Given the description of an element on the screen output the (x, y) to click on. 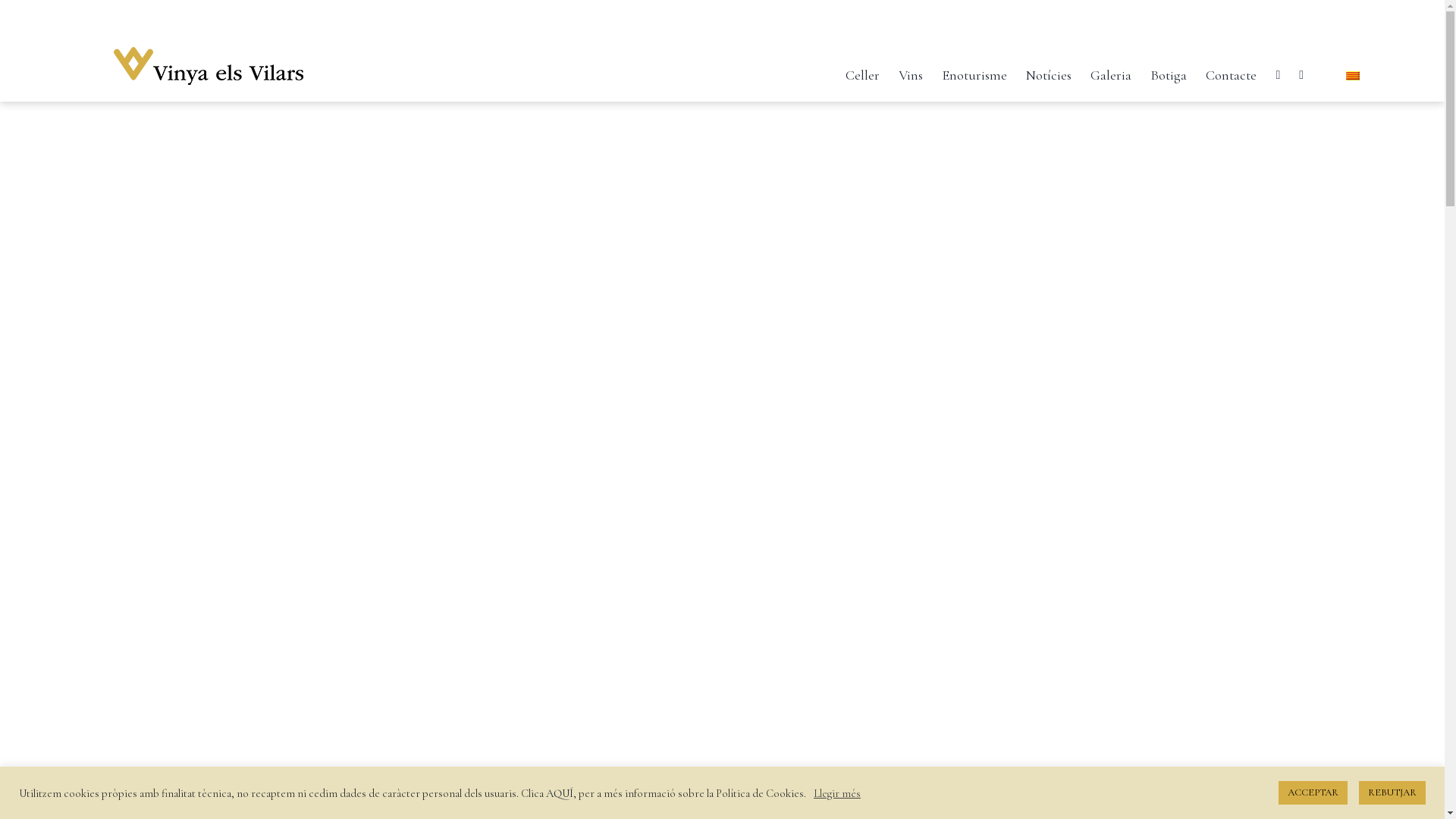
Enoturisme Element type: text (974, 71)
ACCEPTAR Element type: text (1312, 792)
Vins Element type: text (910, 71)
Contacte Element type: text (1230, 71)
Botiga Element type: text (1168, 71)
REBUTJAR Element type: text (1391, 792)
Log In Element type: text (1246, 250)
Celler Element type: text (862, 71)
Galeria Element type: text (1110, 71)
